Given the description of an element on the screen output the (x, y) to click on. 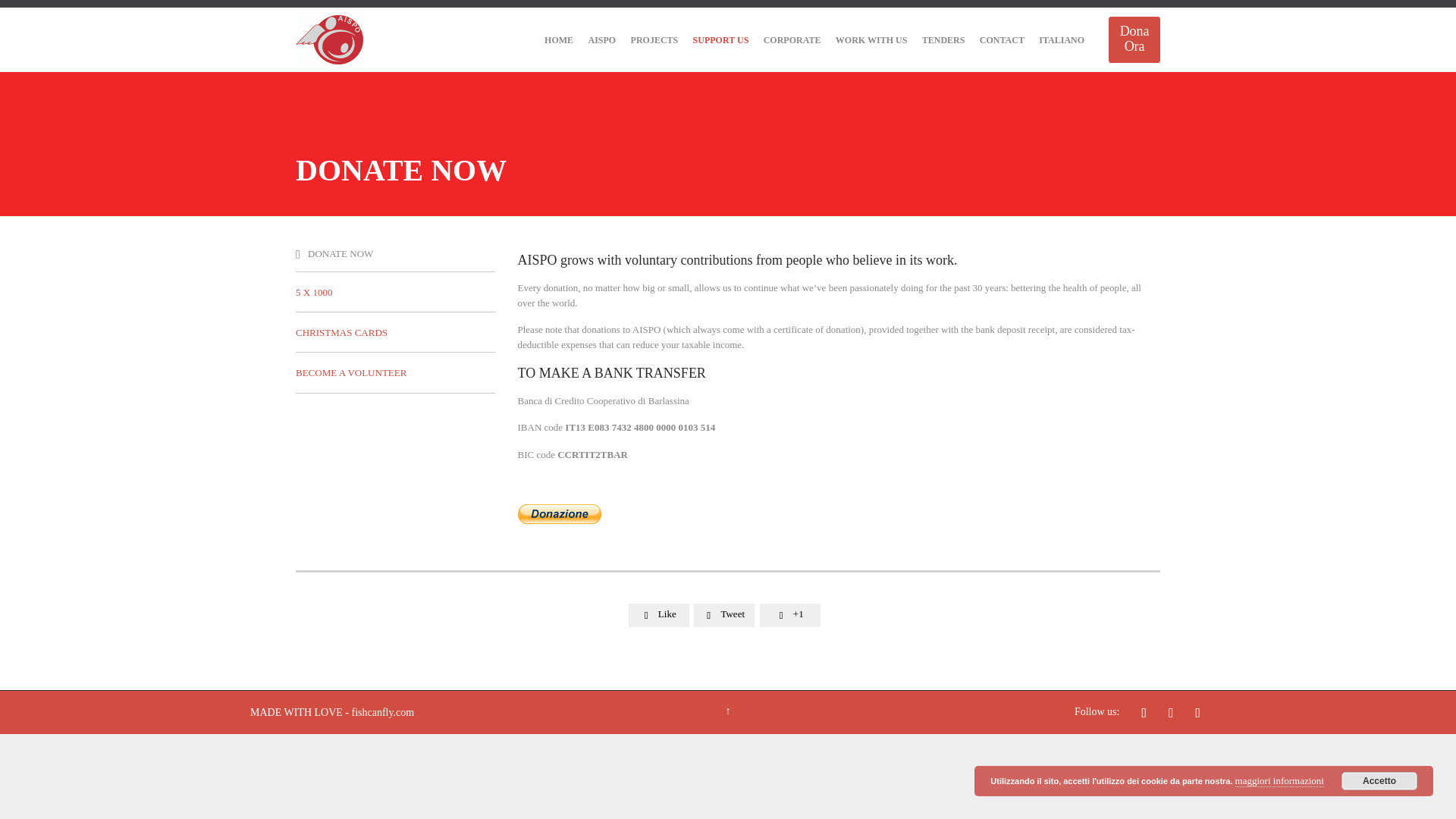
HOME (558, 40)
AISPO (601, 40)
PROJECTS (653, 40)
SUPPORT US (720, 40)
